Given the description of an element on the screen output the (x, y) to click on. 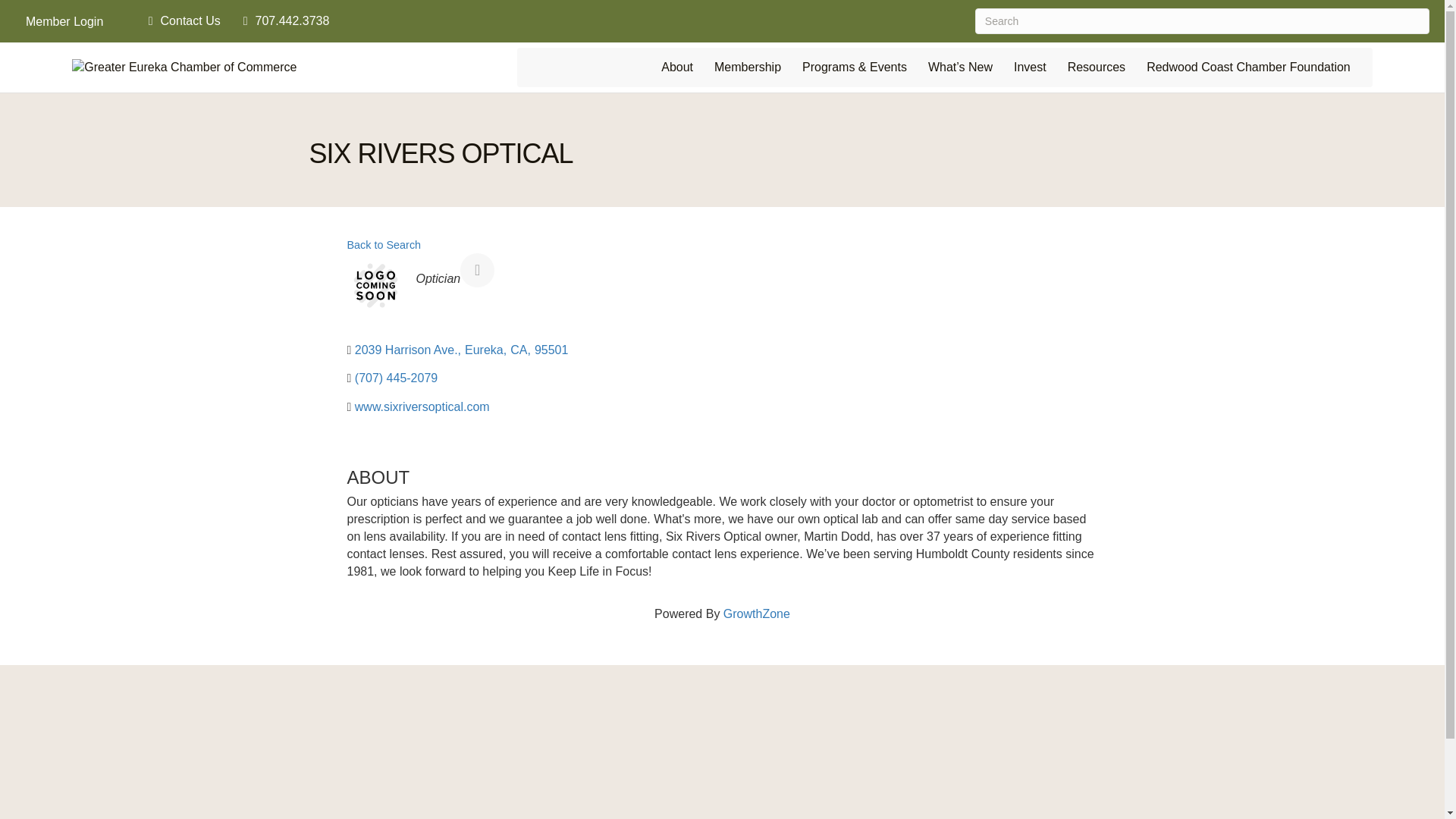
About (676, 66)
Type and press Enter to search. (1202, 21)
Member Login (63, 21)
Contact Us (181, 21)
707.442.3738 (282, 21)
